Given the description of an element on the screen output the (x, y) to click on. 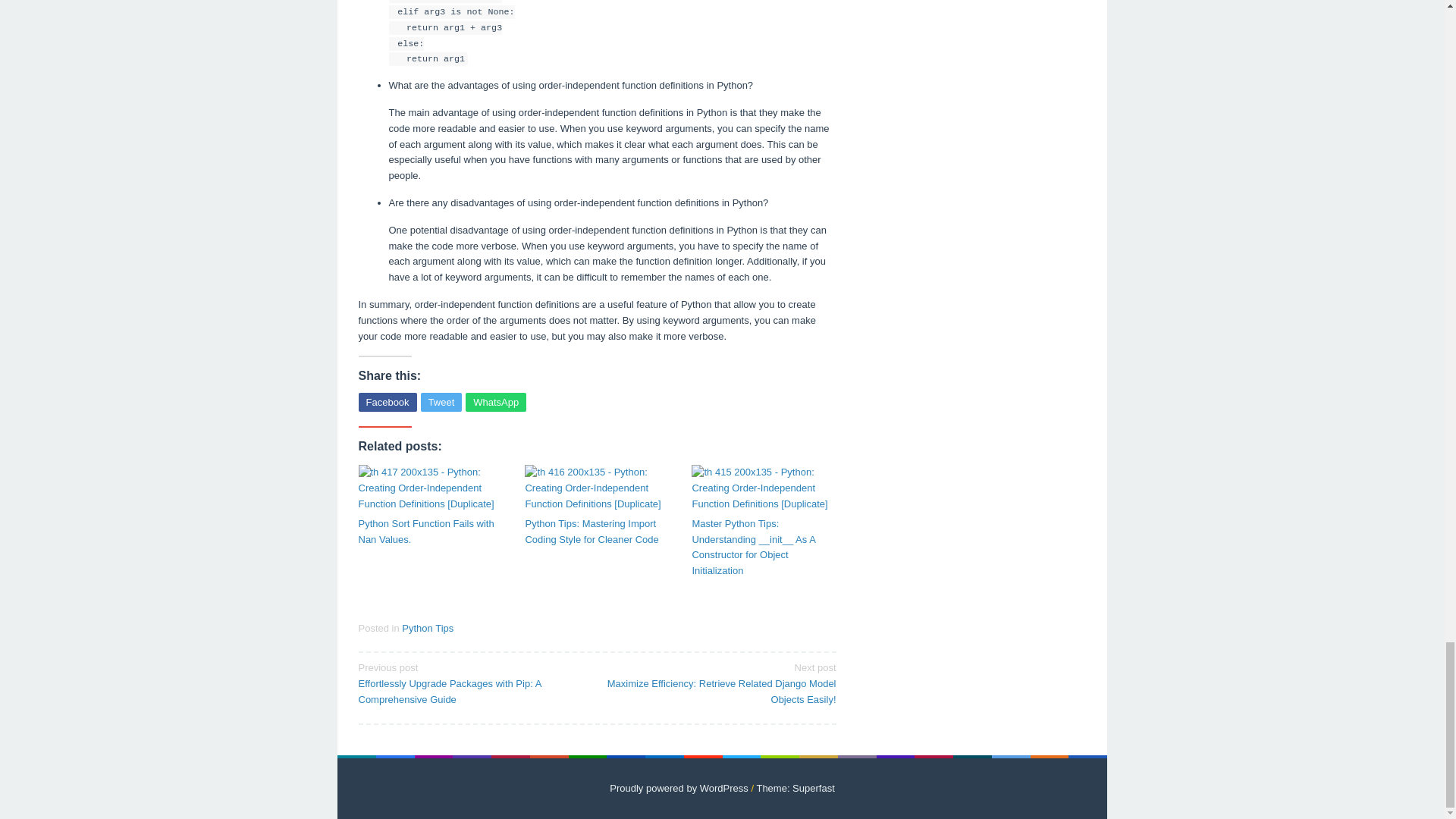
WhatsApp (495, 402)
Permalink to: Python Sort Function Fails with Nan Values. (430, 531)
Python Sort Function Fails with Nan Values. (430, 531)
Tweet (441, 402)
Share this (387, 402)
Facebook (387, 402)
